Given the description of an element on the screen output the (x, y) to click on. 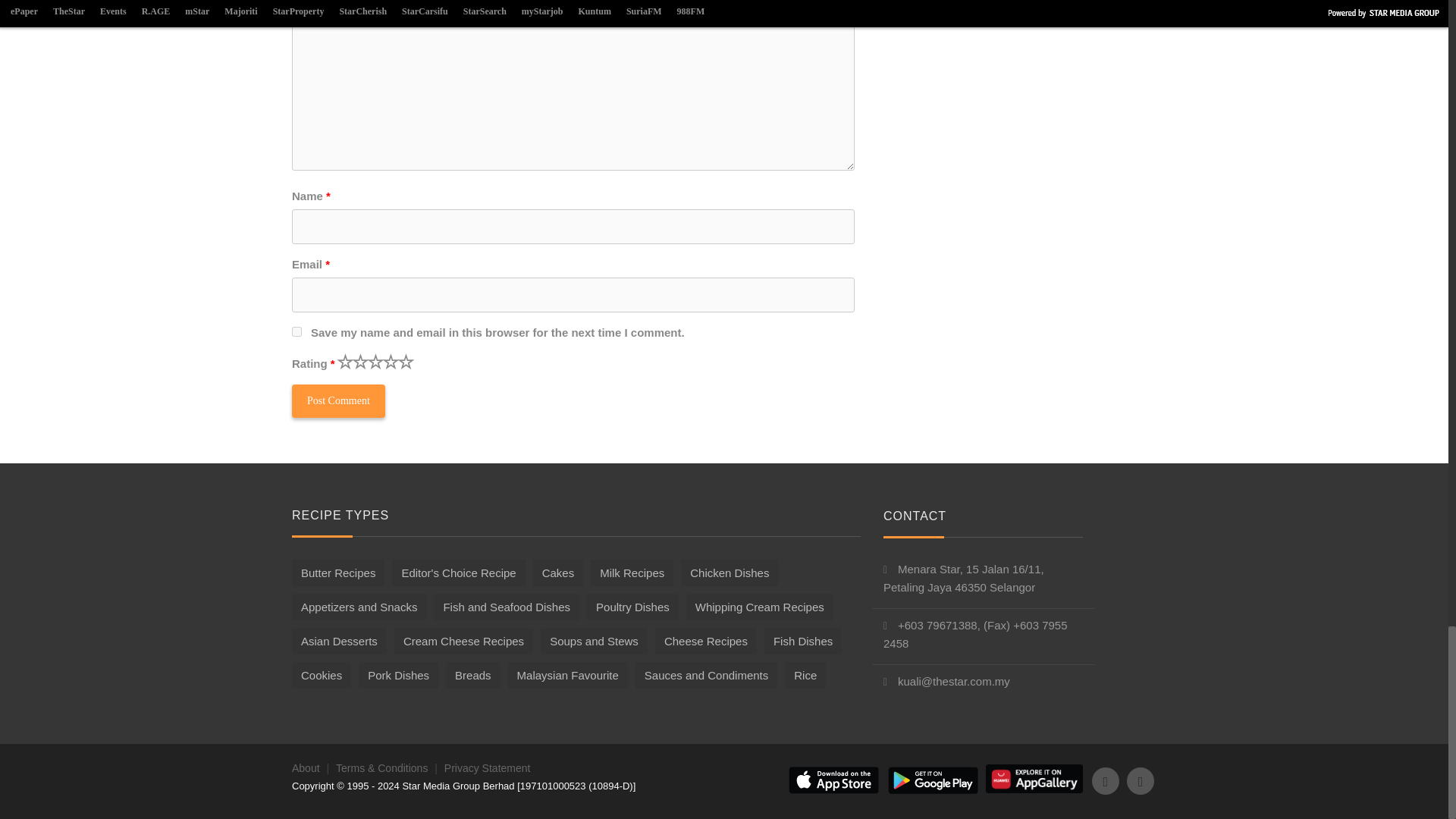
Post Comment (338, 400)
yes (296, 331)
